Given the description of an element on the screen output the (x, y) to click on. 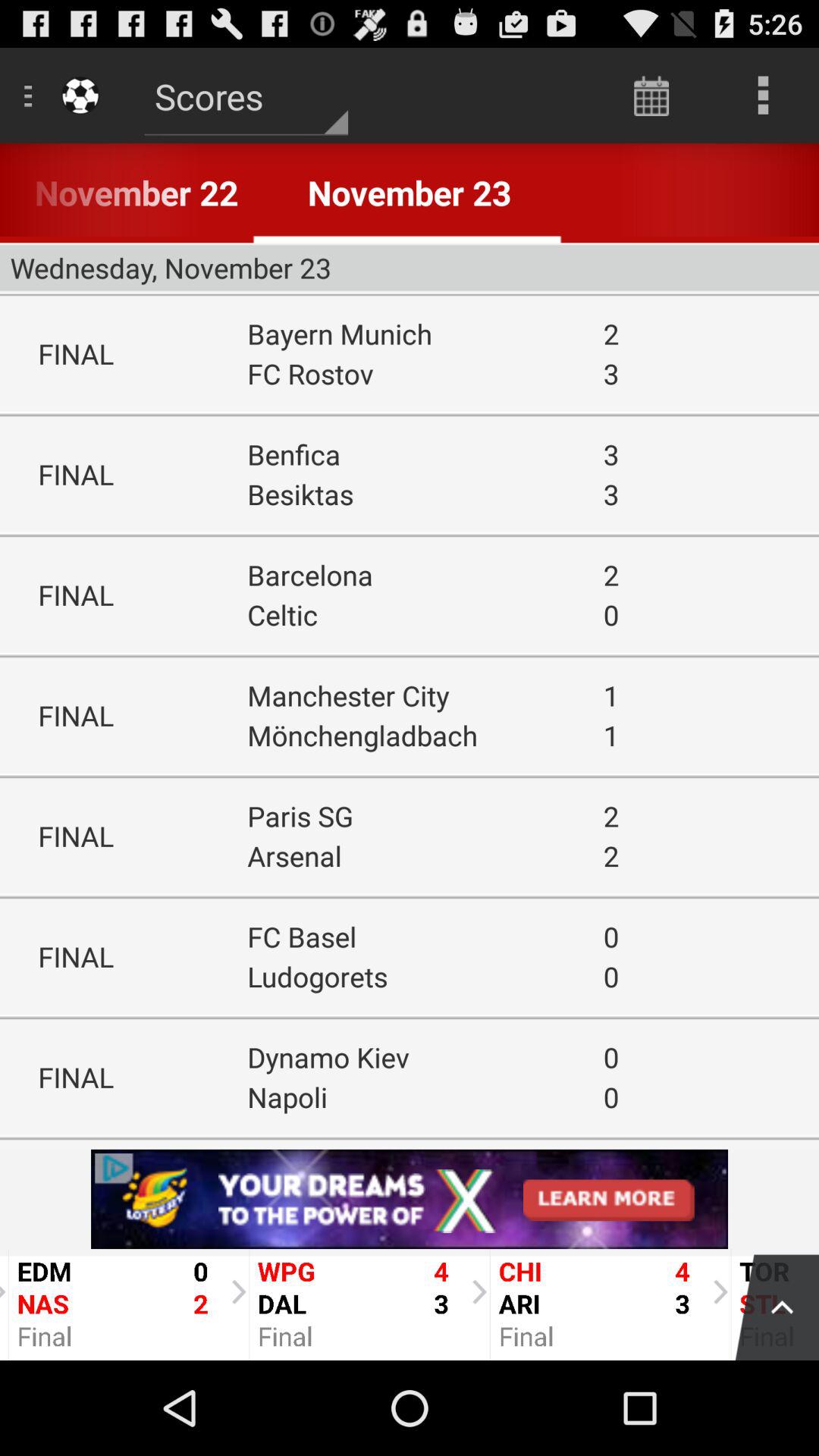
see advertisement (409, 1198)
